Given the description of an element on the screen output the (x, y) to click on. 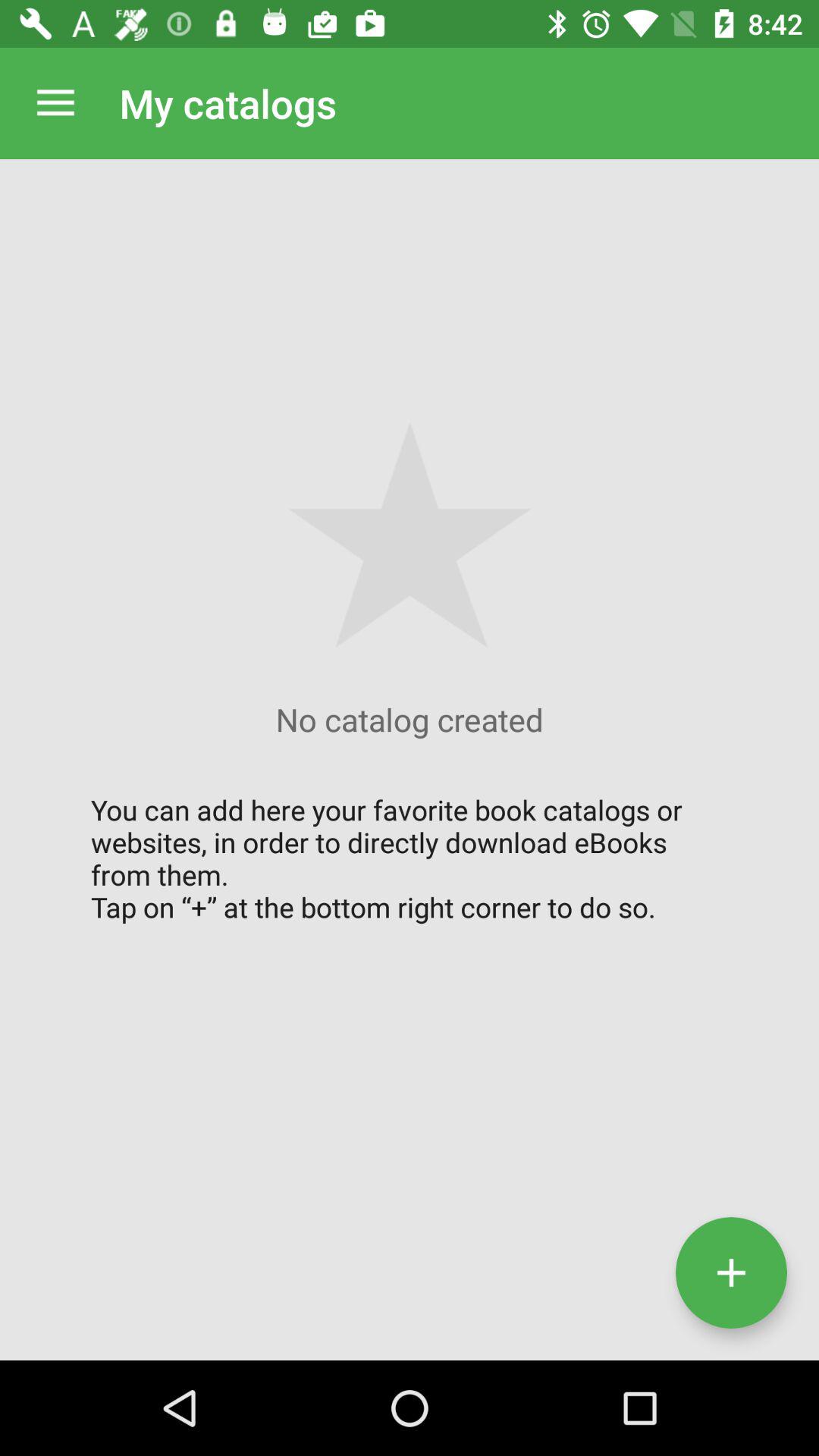
select item to the left of my catalogs app (55, 103)
